Given the description of an element on the screen output the (x, y) to click on. 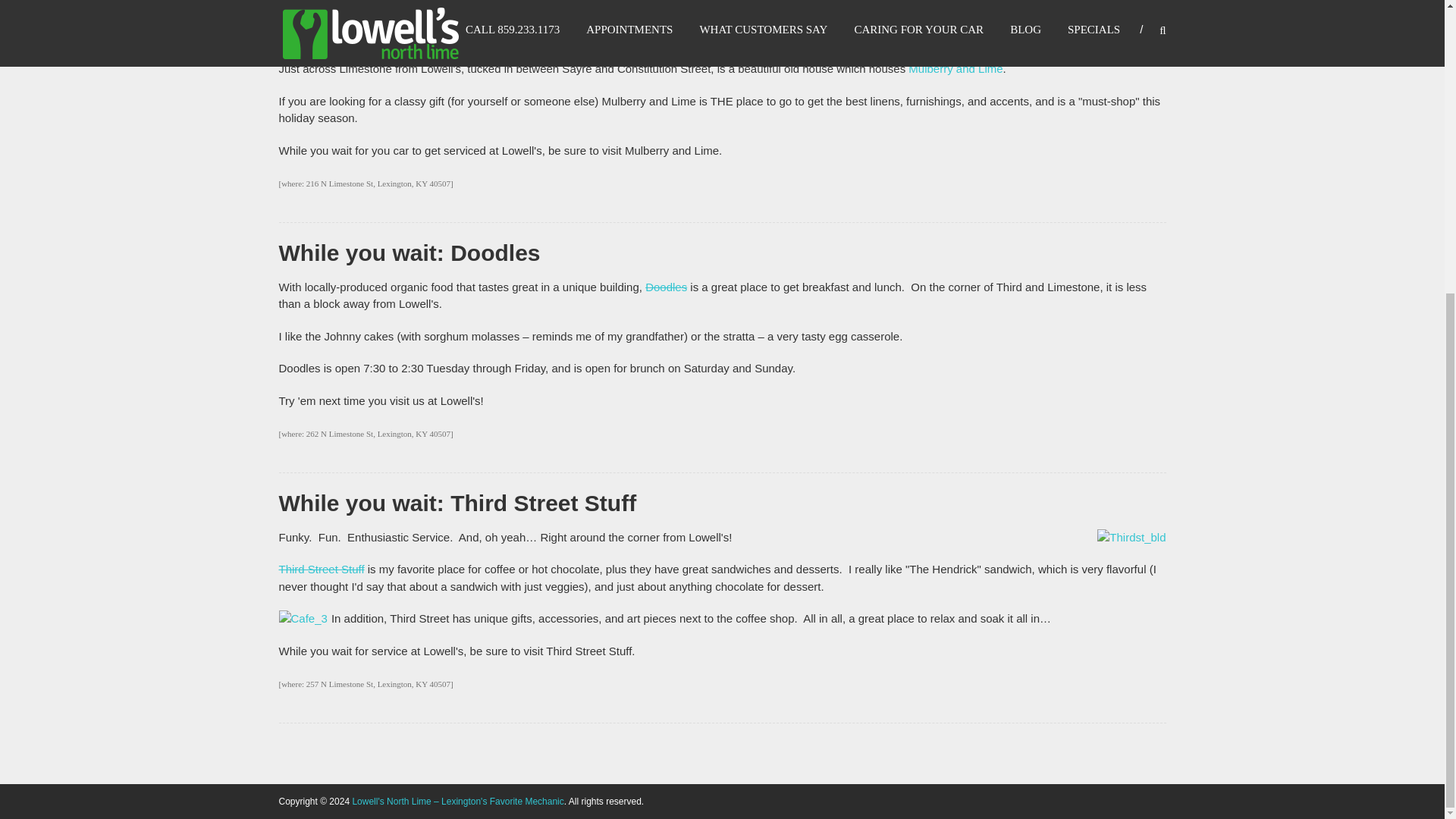
Doodles (666, 286)
While you wait: Mulberry and Lime (465, 34)
While you wait: Doodles (409, 252)
Third Street Stuff (322, 568)
Mulberry and Lime (955, 68)
While you wait: Third Street Stuff (458, 502)
While you wait: Third Street Stuff (458, 502)
While you wait: Doodles (409, 252)
Mulberry and Lime (955, 68)
Doodles (666, 286)
While you wait: Mulberry and Lime (465, 34)
